Given the description of an element on the screen output the (x, y) to click on. 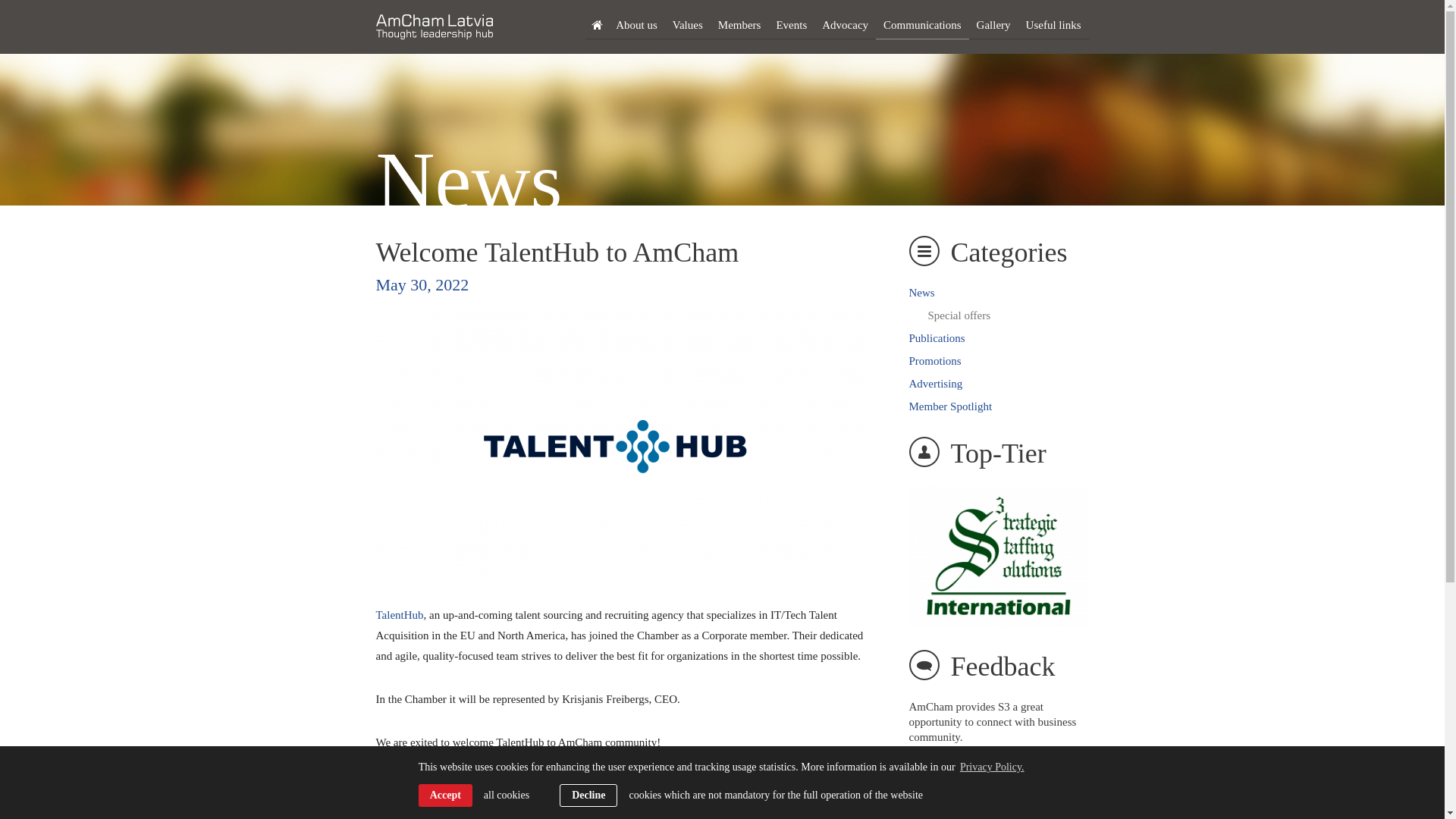
Advocacy (844, 25)
Accept (445, 794)
Privacy Policy. (992, 767)
About us (636, 25)
Members (739, 25)
Communications (922, 25)
Values (687, 25)
Events (790, 25)
Decline (588, 794)
